Given the description of an element on the screen output the (x, y) to click on. 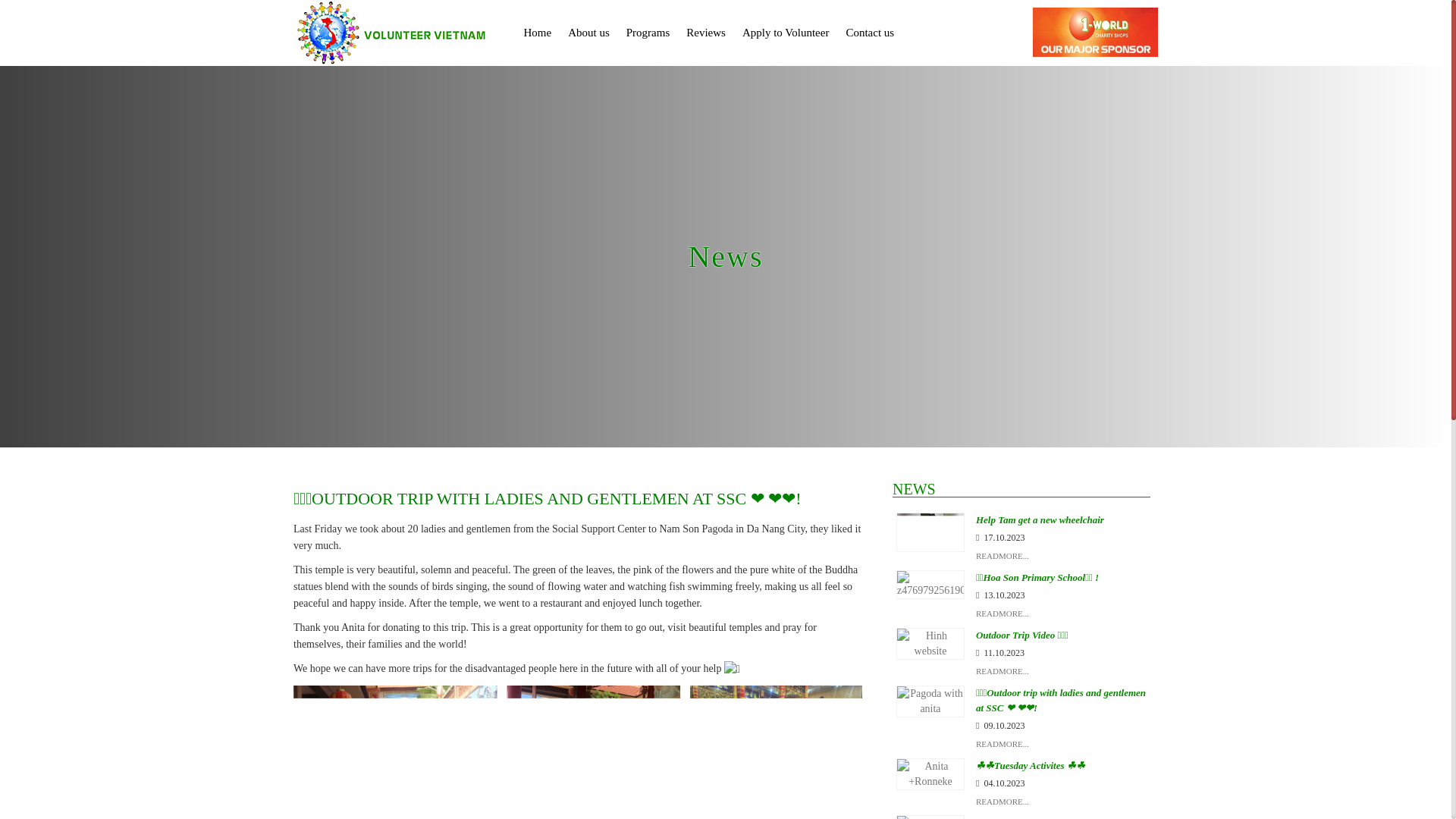
Reviews (705, 33)
Help Tam get a new wheelchair (1039, 519)
Contact us (869, 33)
READMORE... (1002, 618)
About us (588, 33)
NEWS (1021, 489)
READMORE... (1002, 805)
READMORE... (1002, 560)
Home (537, 33)
Help Tam get a new wheelchair (929, 531)
Programs (647, 33)
READMORE... (1002, 675)
Apply to Volunteer (785, 33)
READMORE... (1002, 748)
